Given the description of an element on the screen output the (x, y) to click on. 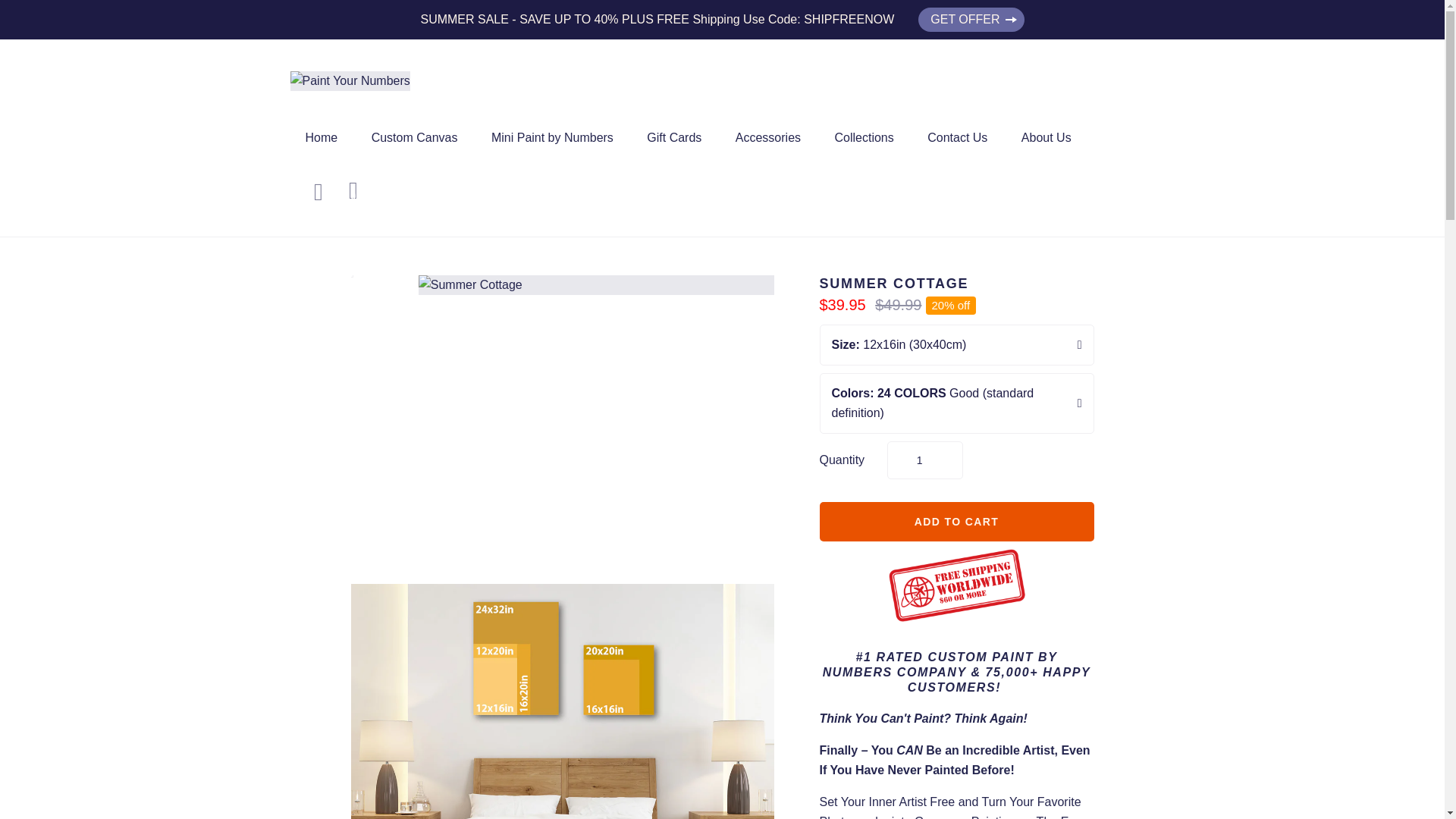
Add to cart (955, 521)
Home (320, 137)
Gift Cards (673, 137)
Contact Us (957, 137)
Custom Canvas (414, 137)
About Us (1046, 137)
1 (924, 460)
Accessories (767, 137)
Collections (863, 137)
GET OFFER (970, 19)
Add to cart (955, 521)
Mini Paint by Numbers (552, 137)
